Given the description of an element on the screen output the (x, y) to click on. 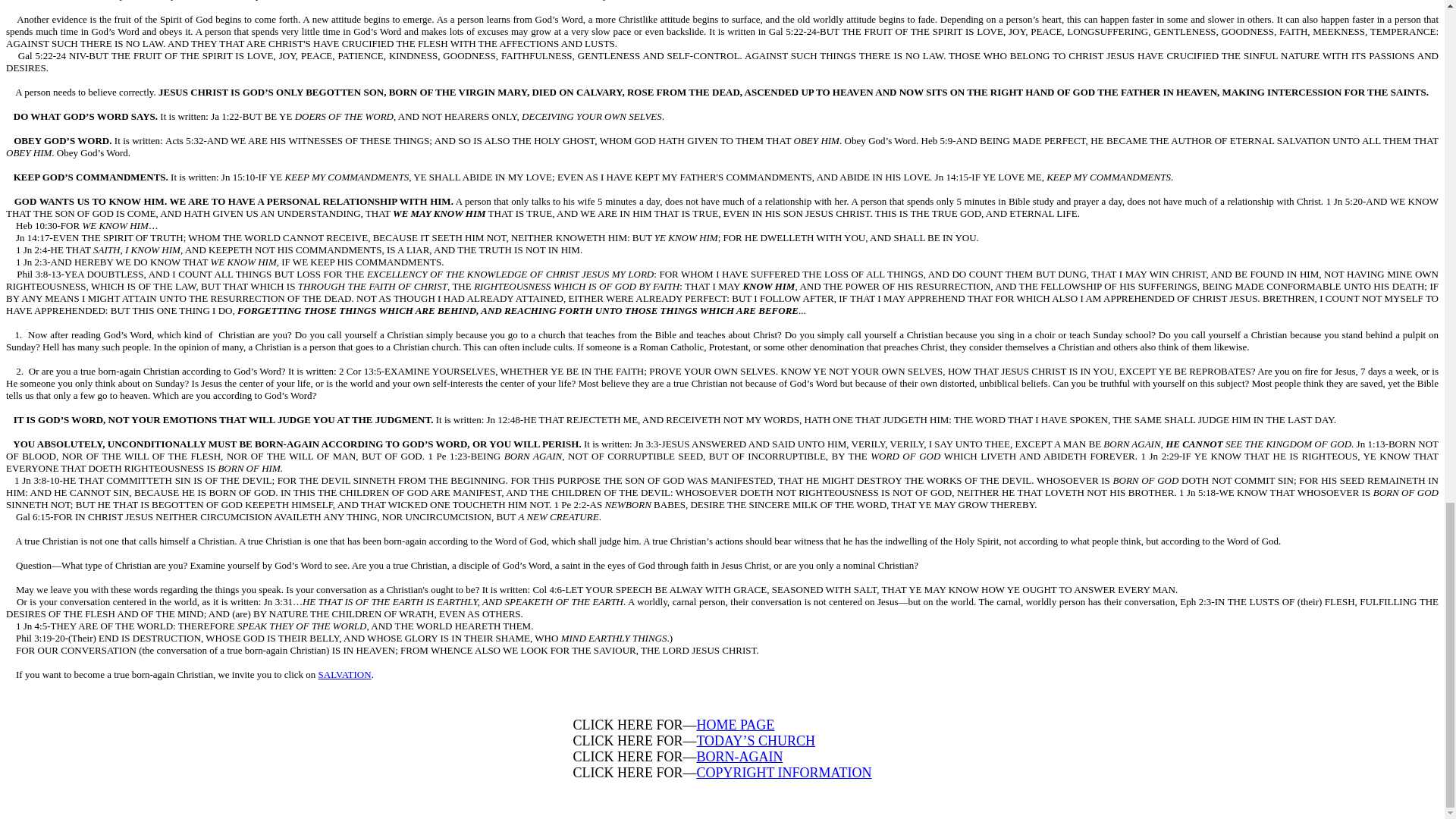
BORN-AGAIN (739, 756)
HOME PAGE (734, 724)
COPYRIGHT INFORMATION (782, 772)
SALVATION (344, 674)
